Given the description of an element on the screen output the (x, y) to click on. 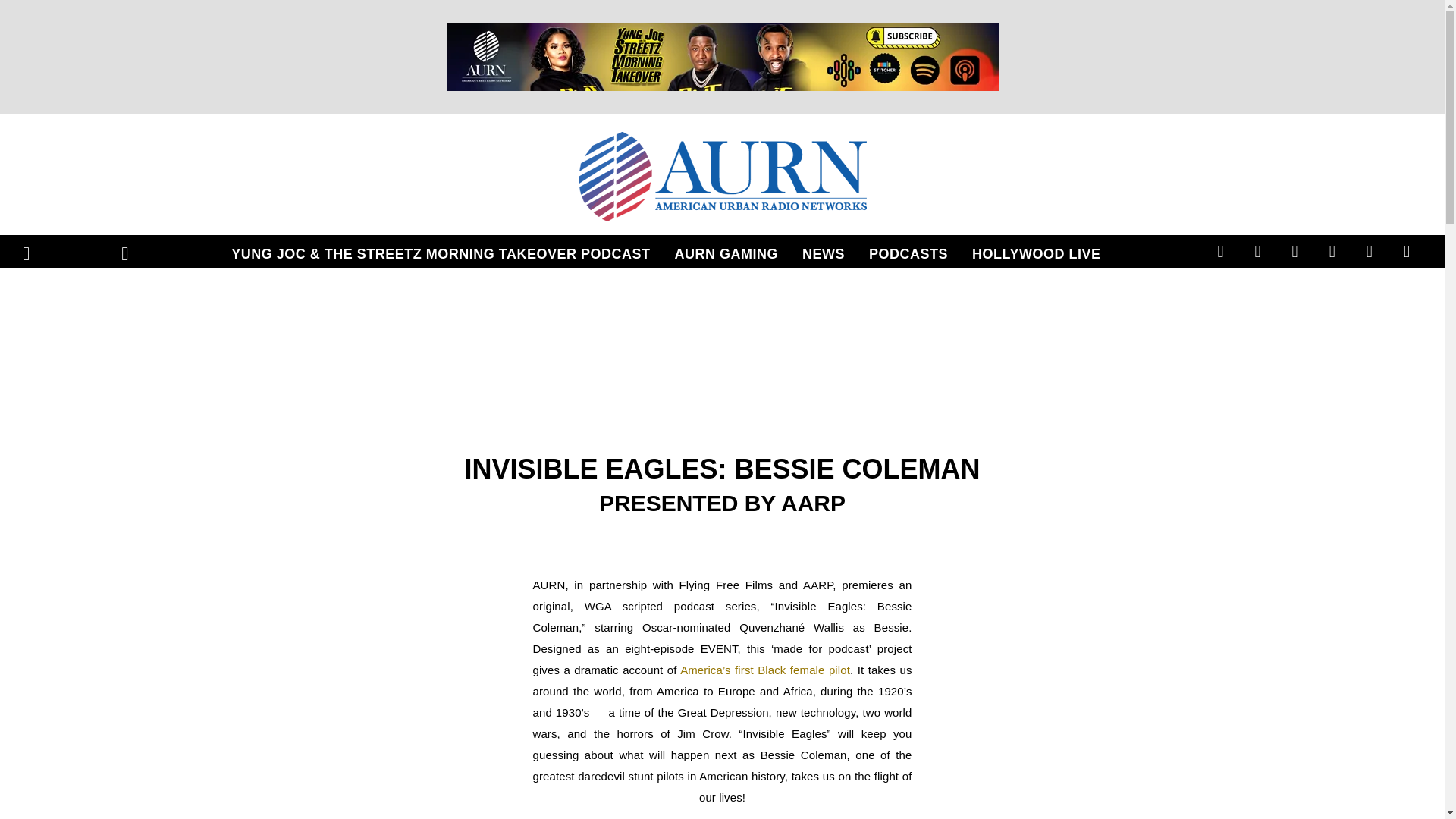
HOLLYWOOD LIVE (1036, 253)
NEWS (823, 253)
AURN GAMING (726, 253)
PODCASTS (908, 253)
